Given the description of an element on the screen output the (x, y) to click on. 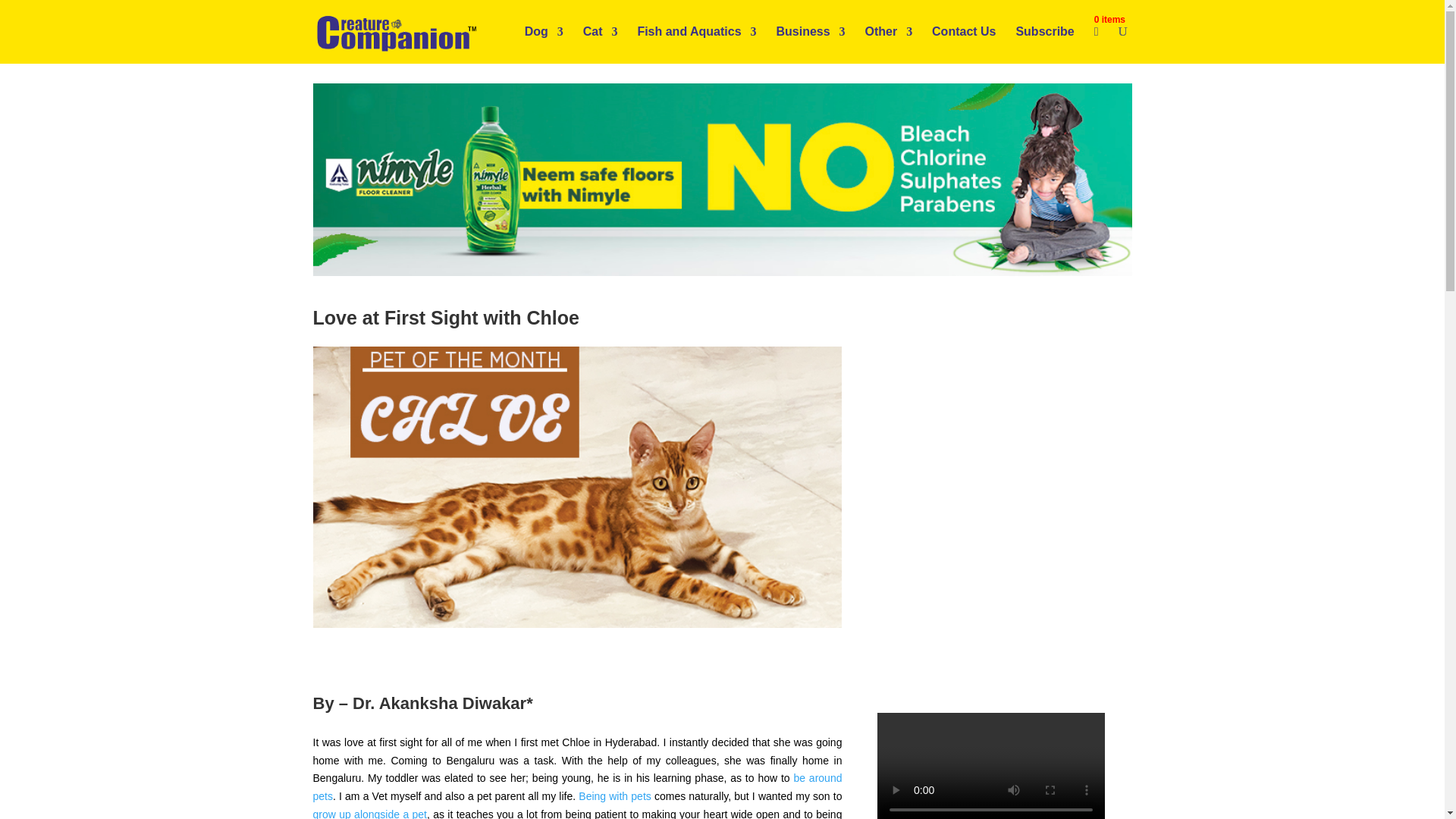
Cat (600, 44)
Being with pets (614, 796)
be around pets (577, 787)
Contact Us (963, 44)
grow up alongside a pet (369, 813)
Other (888, 44)
Start shopping (1098, 44)
Subscribe (1044, 44)
0 items (1098, 44)
Dog (543, 44)
Fish and Aquatics (696, 44)
Business (810, 44)
